Given the description of an element on the screen output the (x, y) to click on. 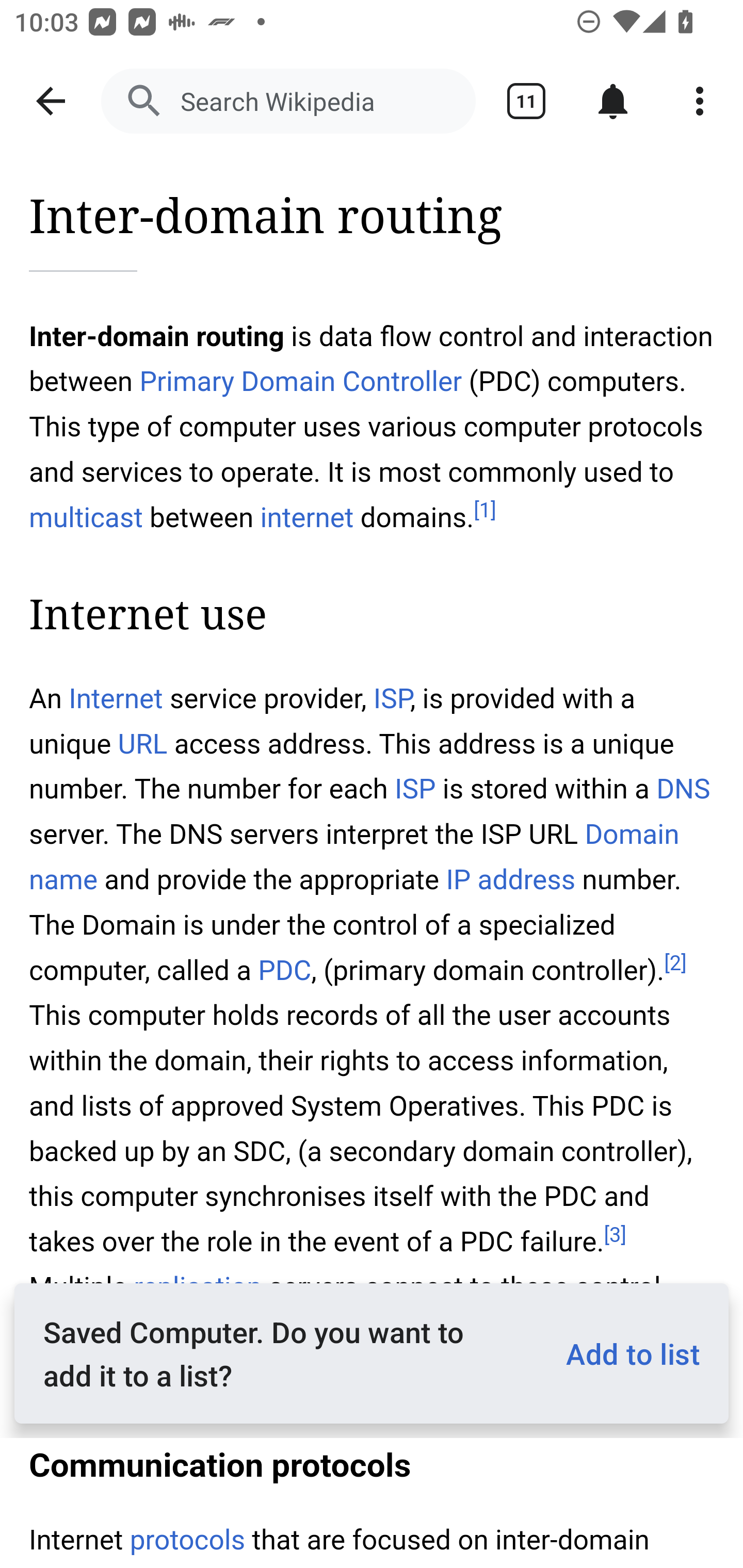
Show tabs 11 (525, 100)
Notifications (612, 100)
Navigate up (50, 101)
More options (699, 101)
Search Wikipedia (288, 100)
Primary Domain Controller (300, 381)
[] [ 1 ] (484, 510)
multicast (86, 517)
internet (307, 517)
Internet (116, 699)
ISP (391, 699)
URL (142, 744)
ISP (414, 789)
DNS (683, 789)
Domain name (354, 856)
IP address (509, 879)
[] [ 2 ] (675, 963)
PDC (284, 970)
[] [ 3 ] (615, 1233)
Add to list (625, 1353)
protocols (186, 1540)
